Given the description of an element on the screen output the (x, y) to click on. 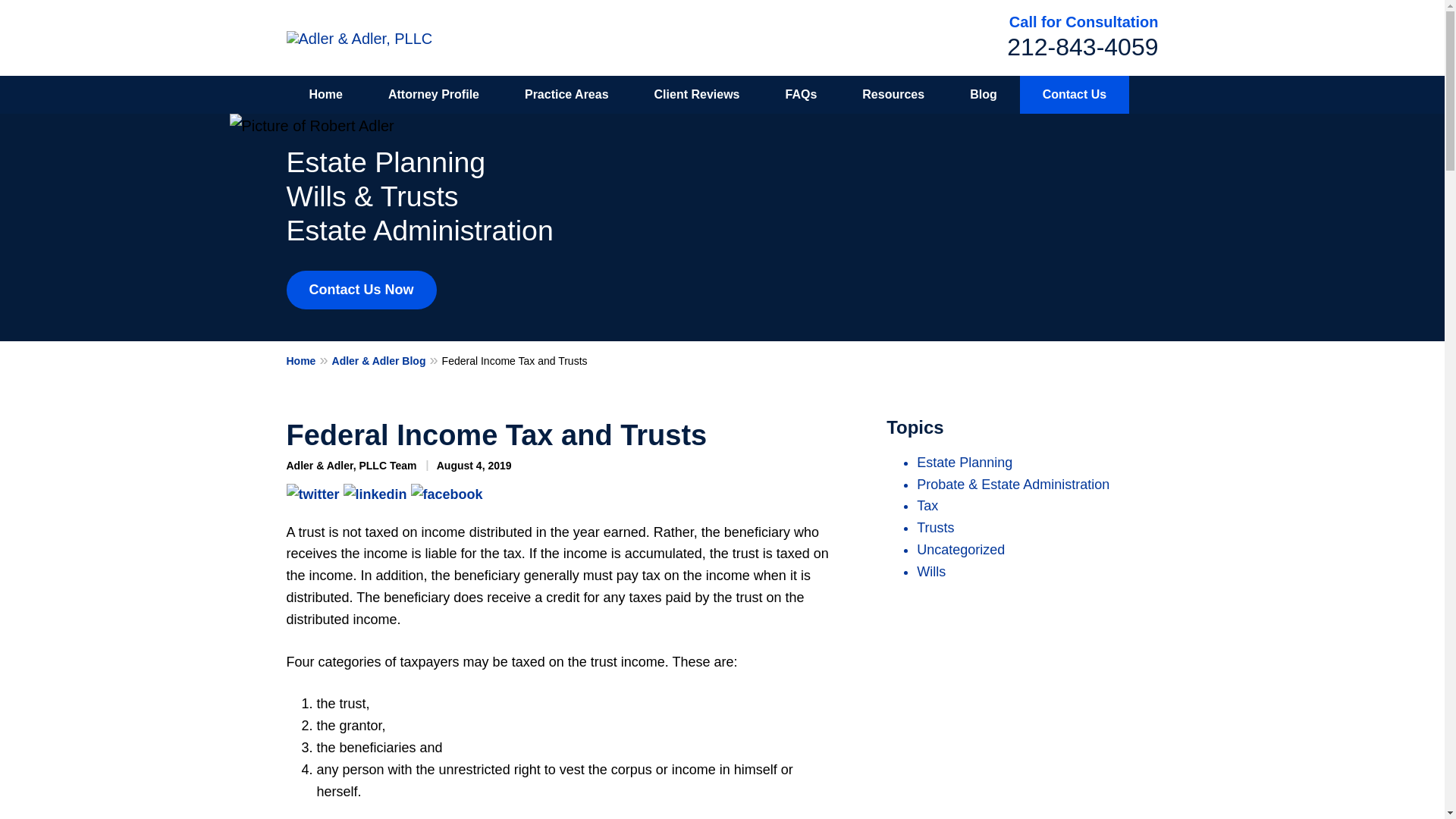
Home (325, 94)
Trusts (935, 527)
Share (374, 493)
Tax (927, 505)
FAQs (801, 94)
Tweet (312, 493)
Attorney Profile (433, 94)
212-843-4059 (1082, 46)
Client Reviews (696, 94)
Estate Planning (964, 462)
